Given the description of an element on the screen output the (x, y) to click on. 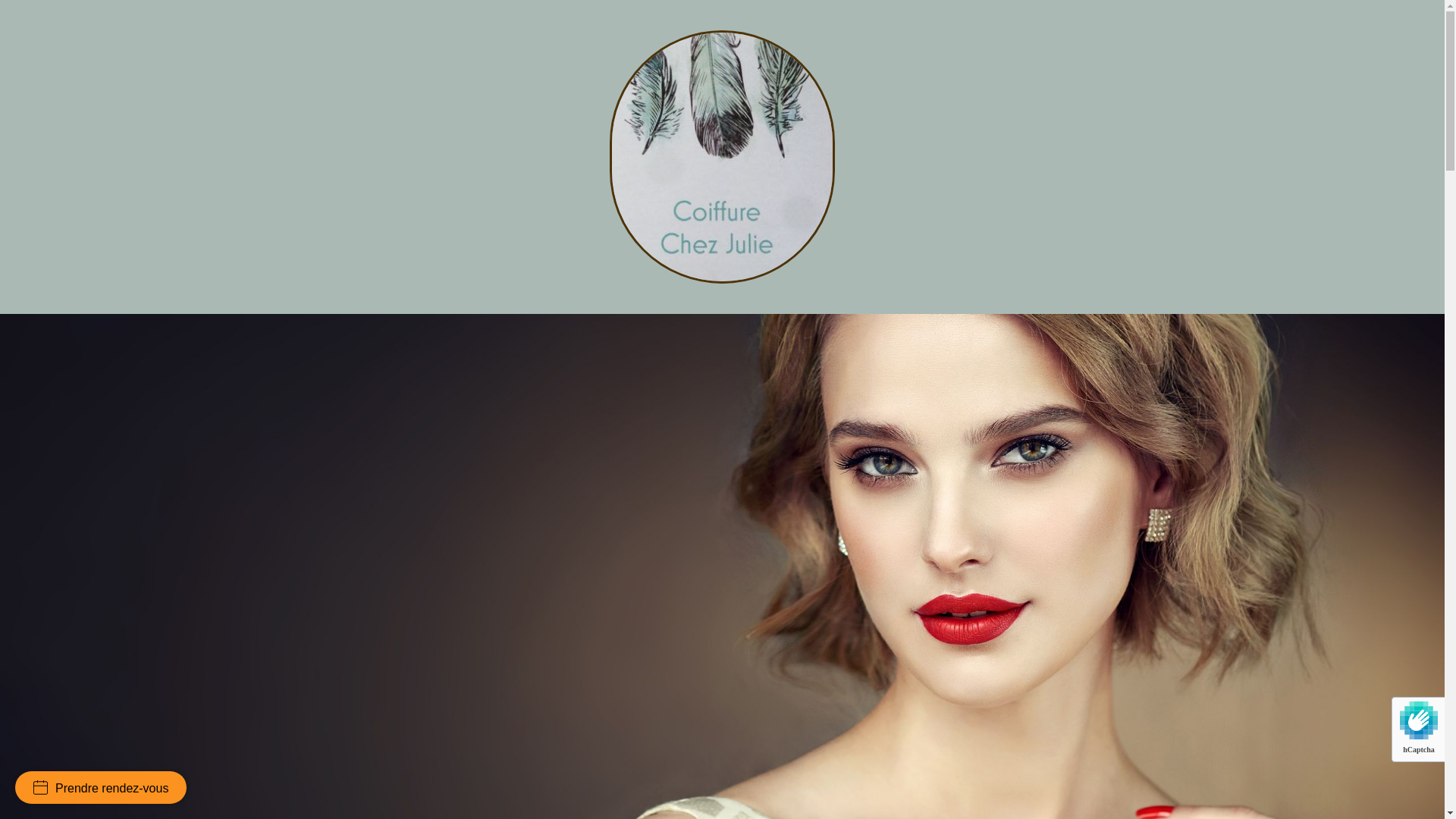
Prendre rendez-vous Element type: text (100, 787)
